Given the description of an element on the screen output the (x, y) to click on. 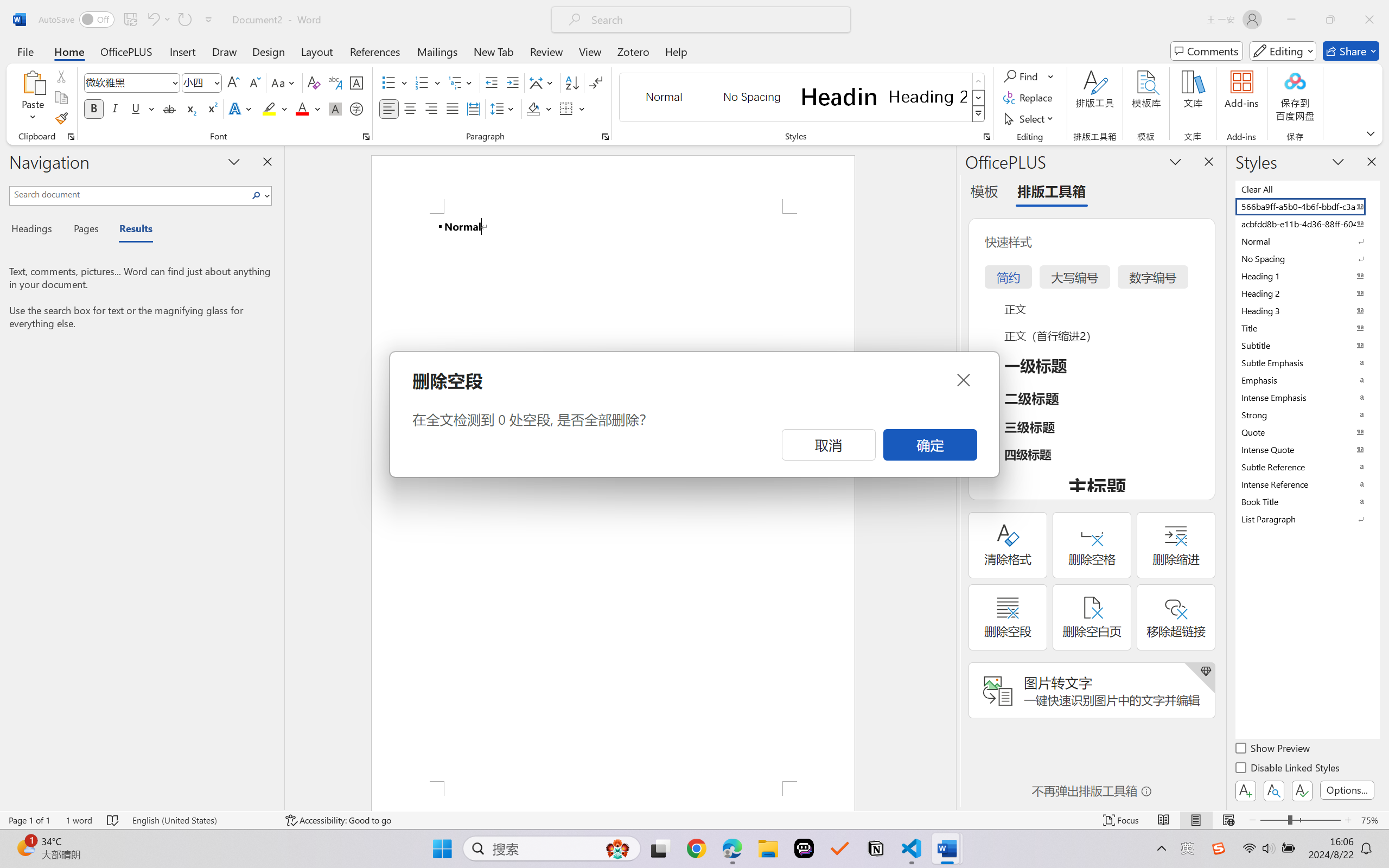
Restore Down (1330, 19)
Bullets (395, 82)
Intense Emphasis (1306, 397)
Zoom In (1348, 819)
Line and Paragraph Spacing (503, 108)
Align Right (431, 108)
Open (215, 82)
Enclose Characters... (356, 108)
Insert (182, 51)
Character Border (356, 82)
Subscript (190, 108)
AutomationID: BadgeAnchorLargeTicker (24, 847)
Character Shading (334, 108)
